Given the description of an element on the screen output the (x, y) to click on. 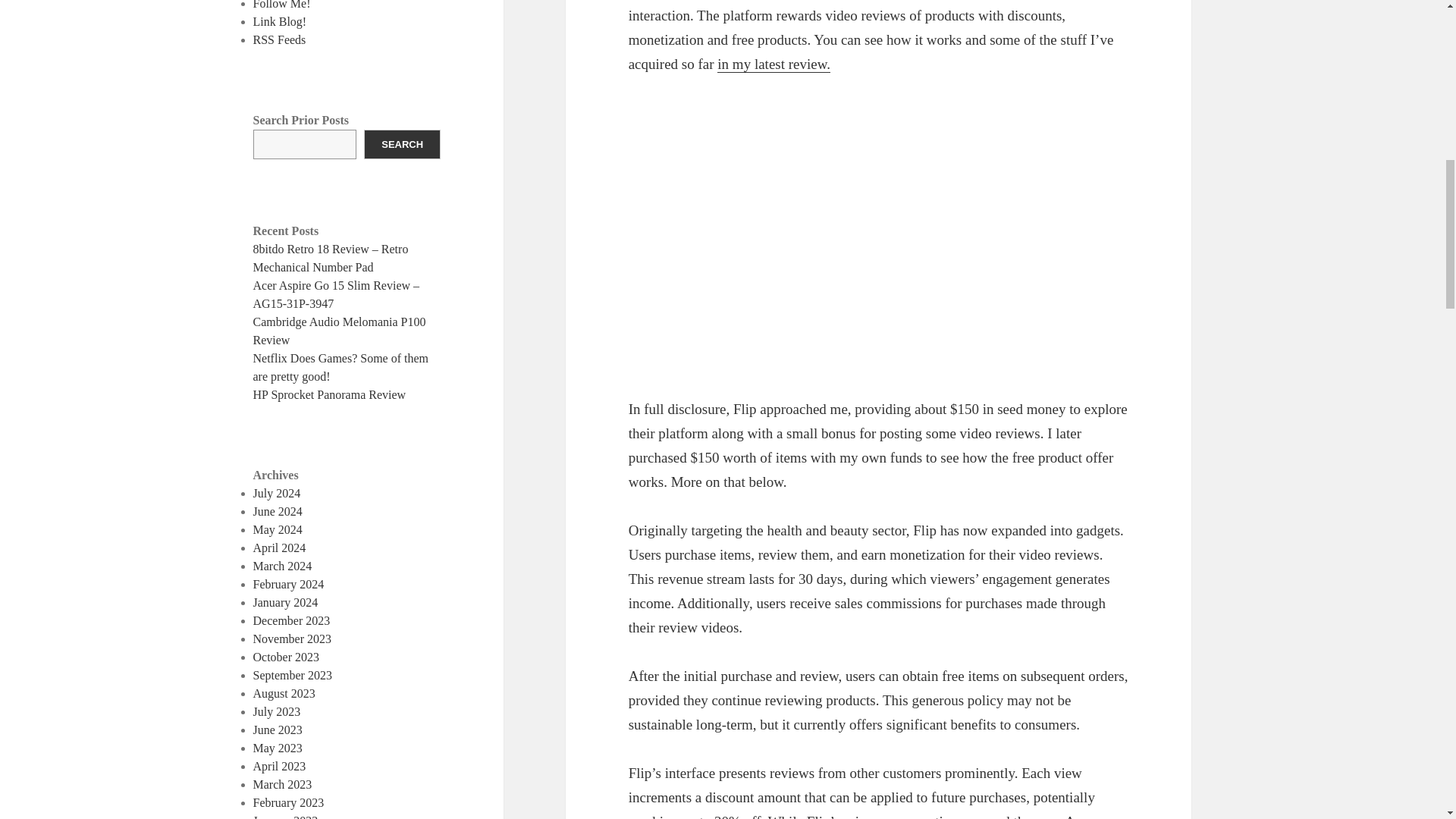
April 2024 (279, 547)
RSS Feeds (279, 39)
SEARCH (402, 143)
January 2024 (285, 602)
November 2023 (292, 638)
Link Blog! (280, 21)
Follow Me! (282, 4)
May 2024 (277, 529)
February 2024 (288, 584)
Netflix Does Games? Some of them are pretty good! (341, 367)
October 2023 (286, 656)
July 2024 (277, 492)
March 2024 (283, 565)
Cambridge Audio Melomania P100 Review (339, 330)
HP Sprocket Panorama Review (329, 394)
